Given the description of an element on the screen output the (x, y) to click on. 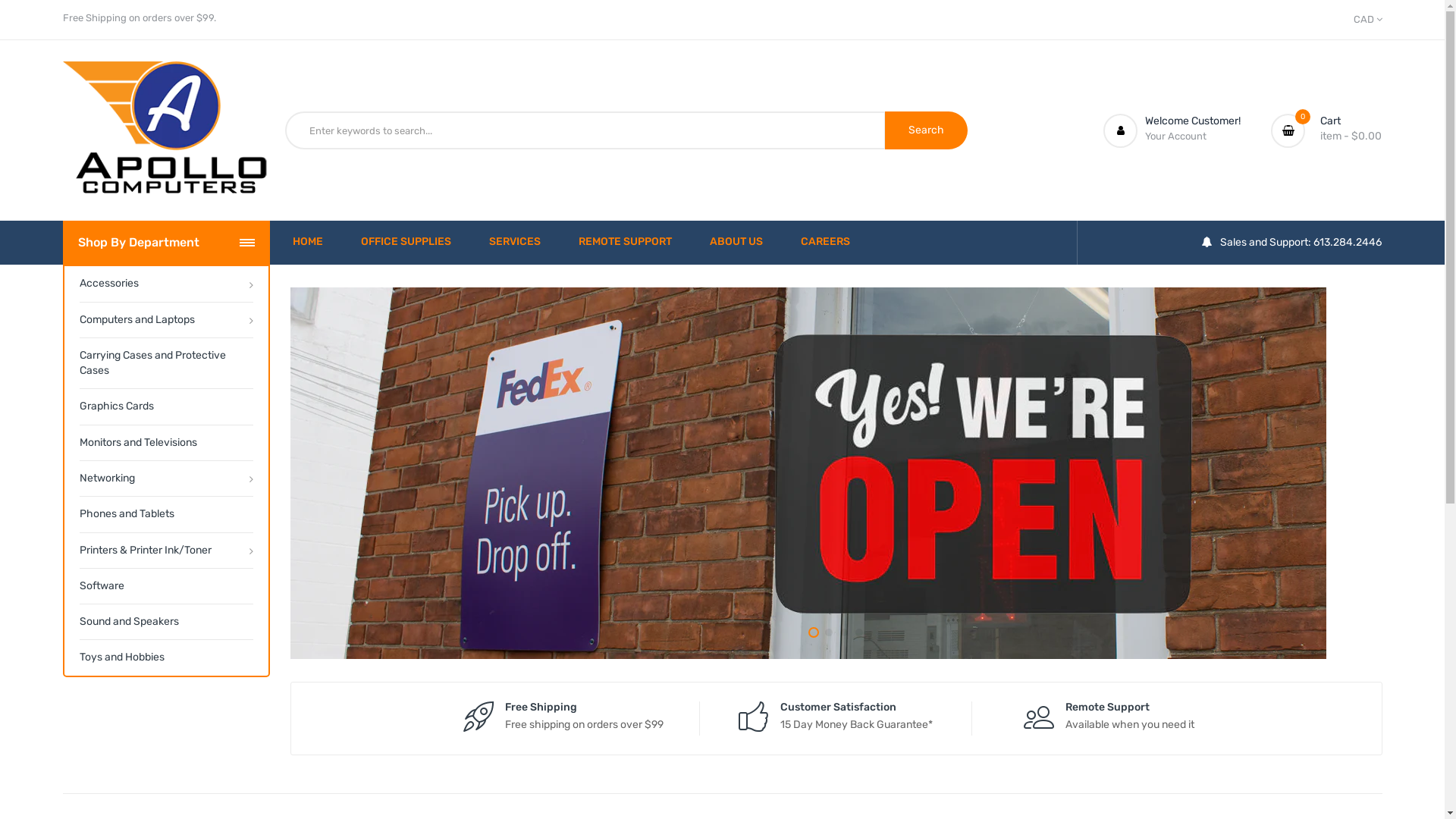
OFFICE SUPPLIES Element type: text (405, 241)
4 Element type: text (858, 632)
Networking Element type: text (165, 477)
Computers and Laptops Element type: text (165, 319)
Your Account Element type: text (1175, 135)
Toys and Hobbies Element type: text (165, 656)
Accessories Element type: text (165, 283)
Sound and Speakers Element type: text (165, 621)
Search Element type: text (925, 130)
Carrying Cases and Protective Cases Element type: text (165, 363)
Graphics Cards Element type: text (165, 405)
Apollo Computers Element type: text (165, 130)
Software Element type: text (165, 585)
SERVICES Element type: text (514, 241)
Printers & Printer Ink/Toner Element type: text (165, 549)
Cart
0
item
 - 
$0.00 Element type: text (1325, 130)
CAREERS Element type: text (825, 241)
HOME Element type: text (307, 241)
ABOUT US Element type: text (735, 241)
2 Element type: text (828, 632)
1 Element type: text (813, 632)
Monitors and Televisions Element type: text (165, 442)
Phones and Tablets Element type: text (165, 513)
3 Element type: text (843, 632)
REMOTE SUPPORT Element type: text (624, 241)
